Given the description of an element on the screen output the (x, y) to click on. 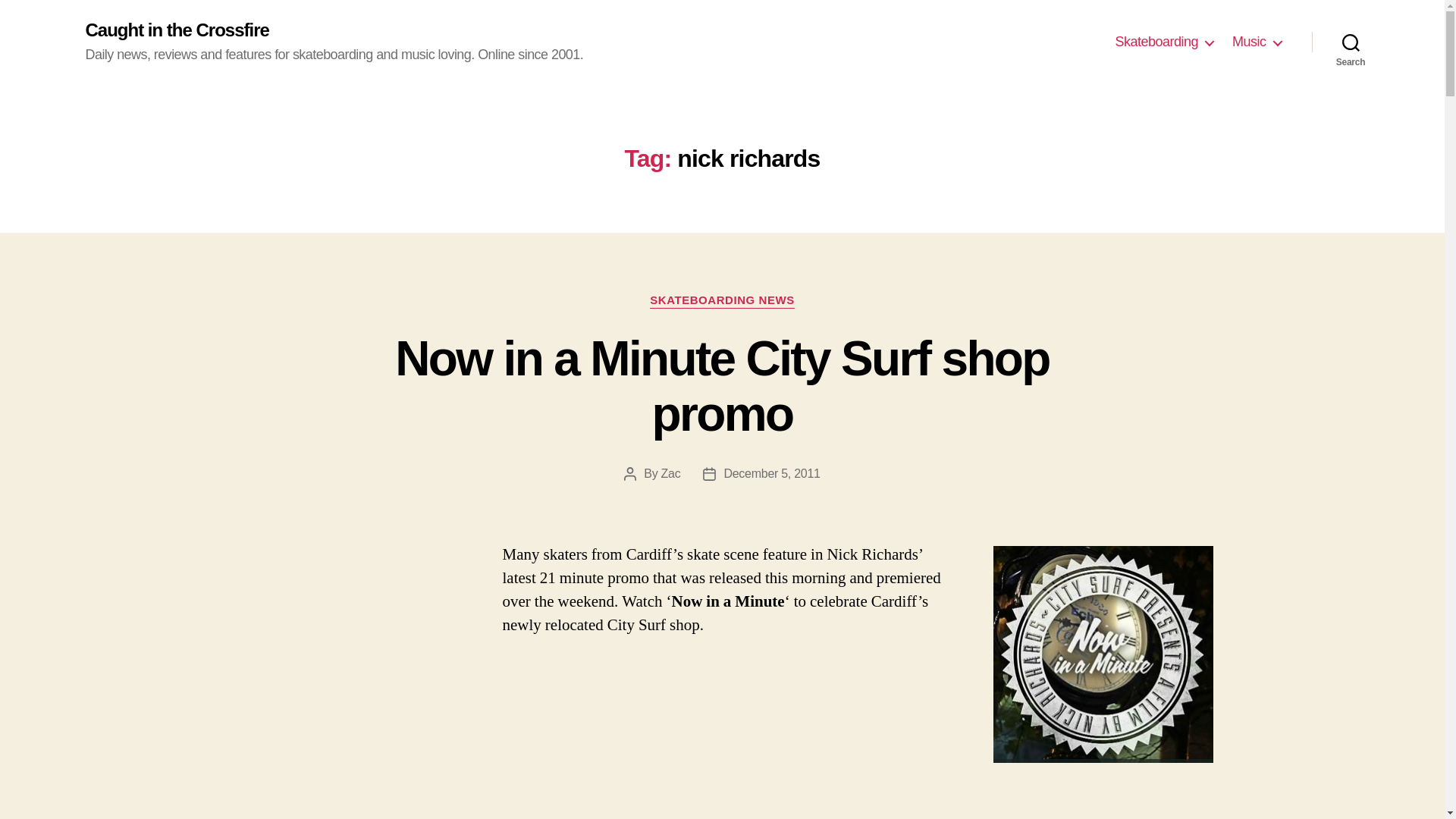
Skateboarding (1163, 42)
Caught in the Crossfire (175, 30)
Music (1256, 42)
Search (1350, 41)
nowinaminute (1102, 654)
